Given the description of an element on the screen output the (x, y) to click on. 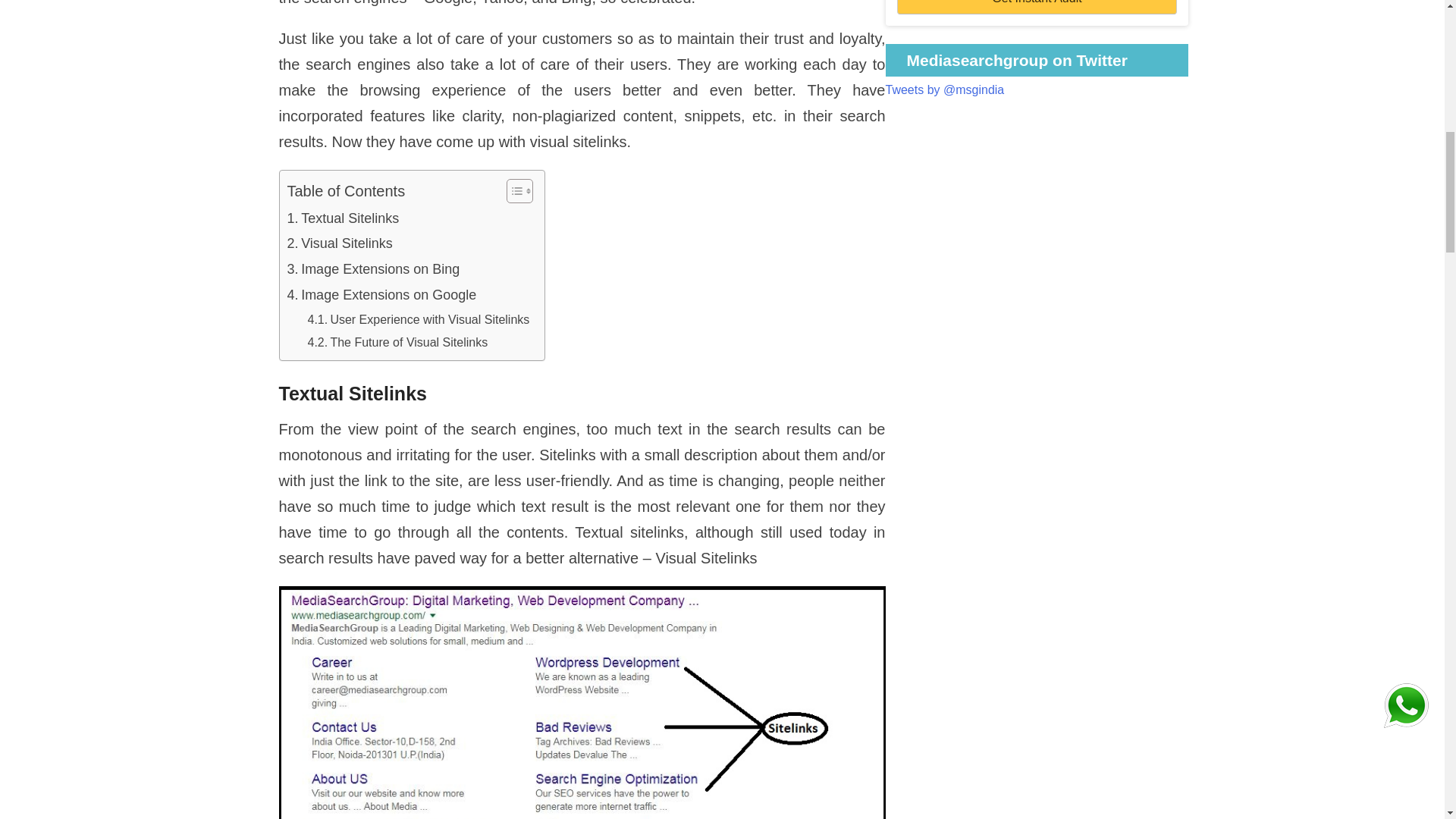
Textual Sitelinks (342, 216)
User Experience with Visual Sitelinks (418, 318)
Image Extensions on Google (381, 293)
Image Extensions on Bing (373, 267)
Get Instant Audit (1036, 7)
The Future of Visual Sitelinks (397, 340)
Visual Sitelinks (338, 241)
